Given the description of an element on the screen output the (x, y) to click on. 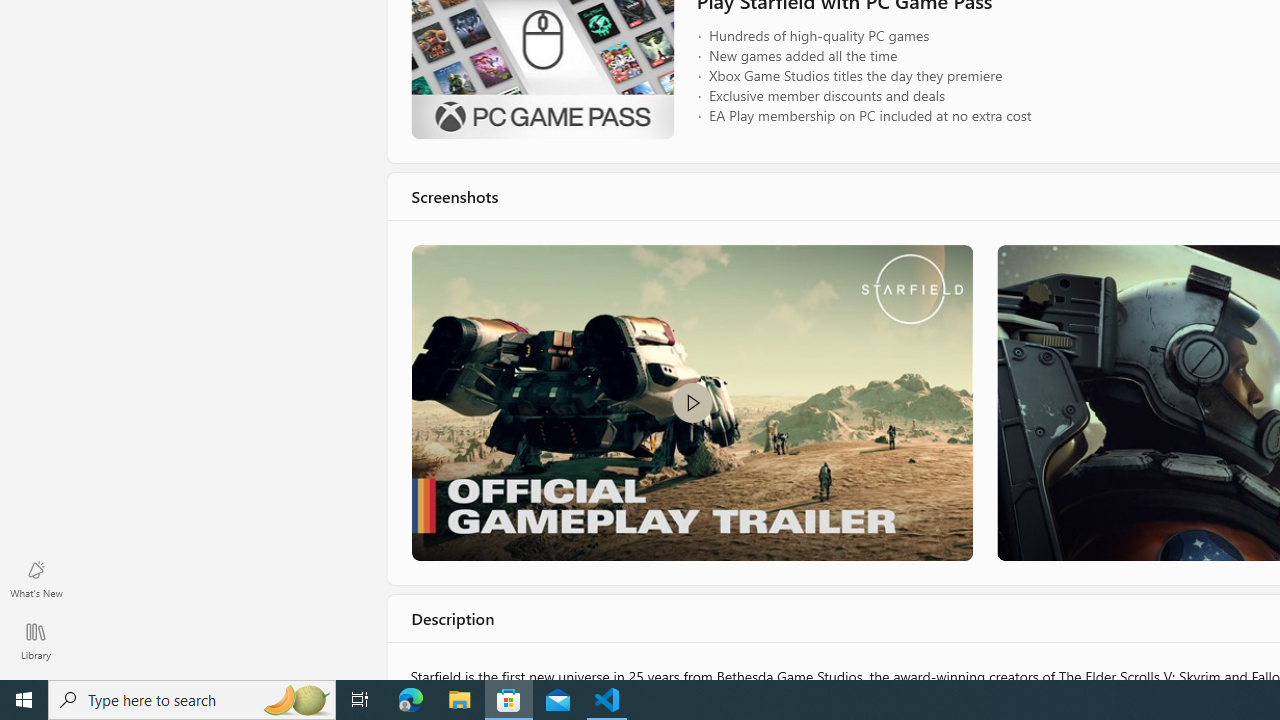
Library (35, 640)
Gameplay Trailer (690, 402)
Class: Image (690, 402)
What's New (35, 578)
